Given the description of an element on the screen output the (x, y) to click on. 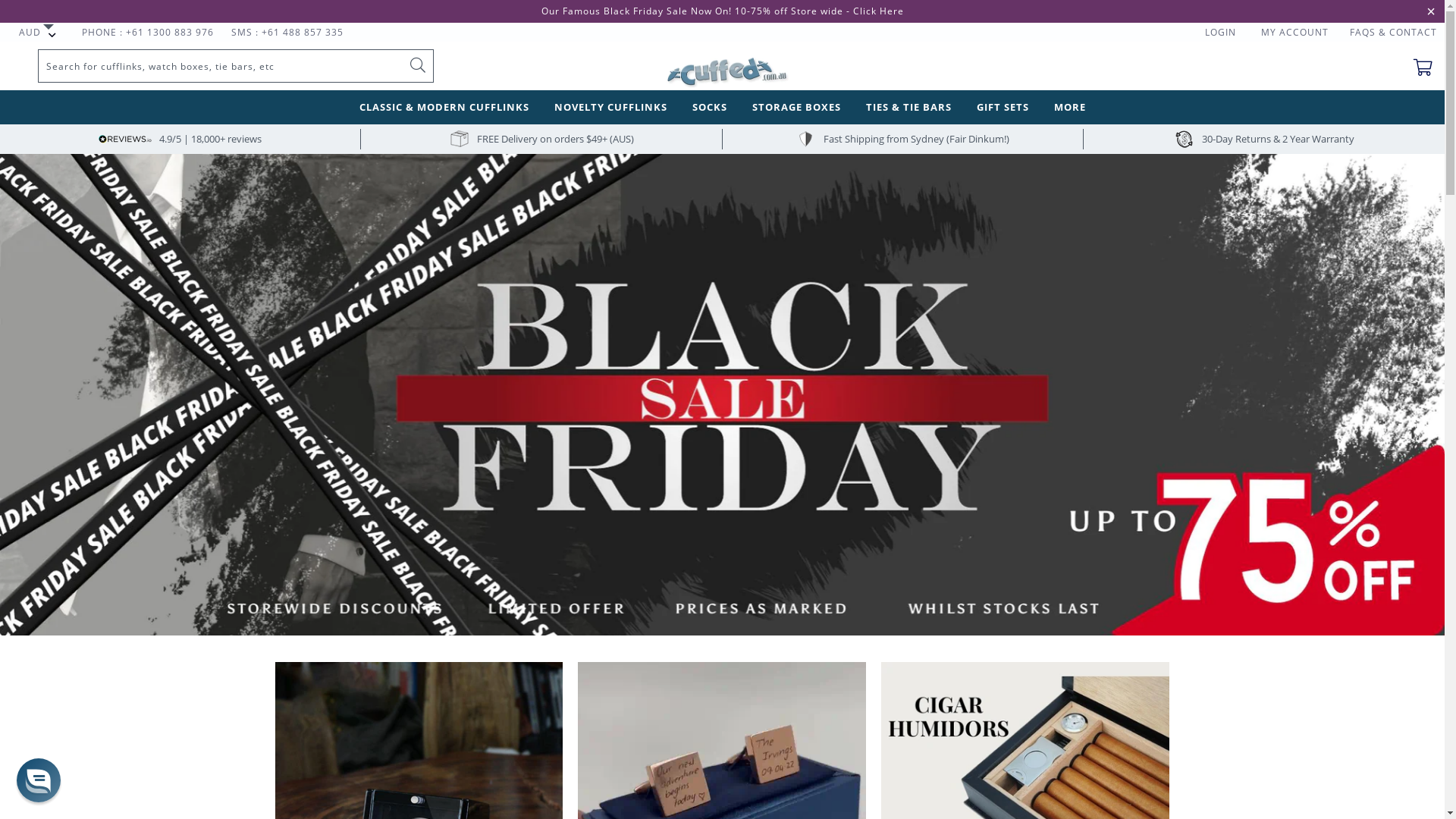
FAQS & CONTACT Element type: text (1393, 31)
MY ACCOUNT Element type: text (1294, 31)
GIFT SETS Element type: text (1002, 107)
SOCKS Element type: text (708, 107)
STORAGE BOXES Element type: text (796, 107)
TIES & TIE BARS Element type: text (908, 107)
Cuffed.com.au Element type: hover (722, 65)
LOGIN Element type: text (1220, 31)
NOVELTY CUFFLINKS Element type: text (609, 107)
SMS : +61 488 857 335 Element type: text (287, 31)
MORE Element type: text (1069, 107)
PHONE : +61 1300 883 976 Element type: text (147, 31)
CLASSIC & MODERN CUFFLINKS Element type: text (444, 107)
